Given the description of an element on the screen output the (x, y) to click on. 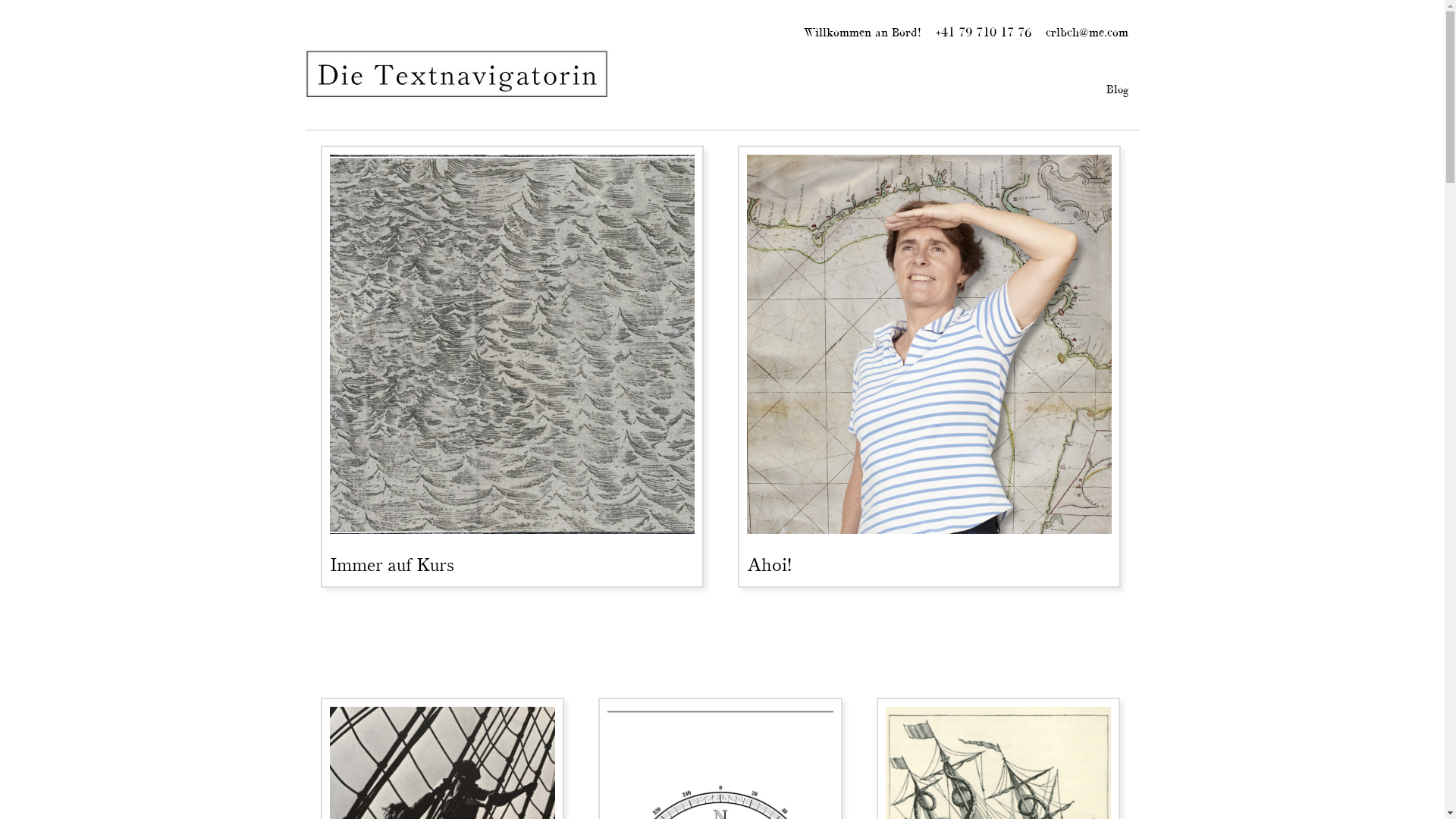
Logo_Textnavigatorin_400x66 Element type: hover (456, 74)
+41 79 710 17 76 Element type: text (983, 31)
Ahoi! Element type: hover (928, 341)
Immer auf Kurs Element type: hover (511, 341)
Ahoi! Element type: text (768, 564)
crlbch@me.com Element type: text (1085, 31)
Immer auf Kurs Element type: text (391, 564)
